Given the description of an element on the screen output the (x, y) to click on. 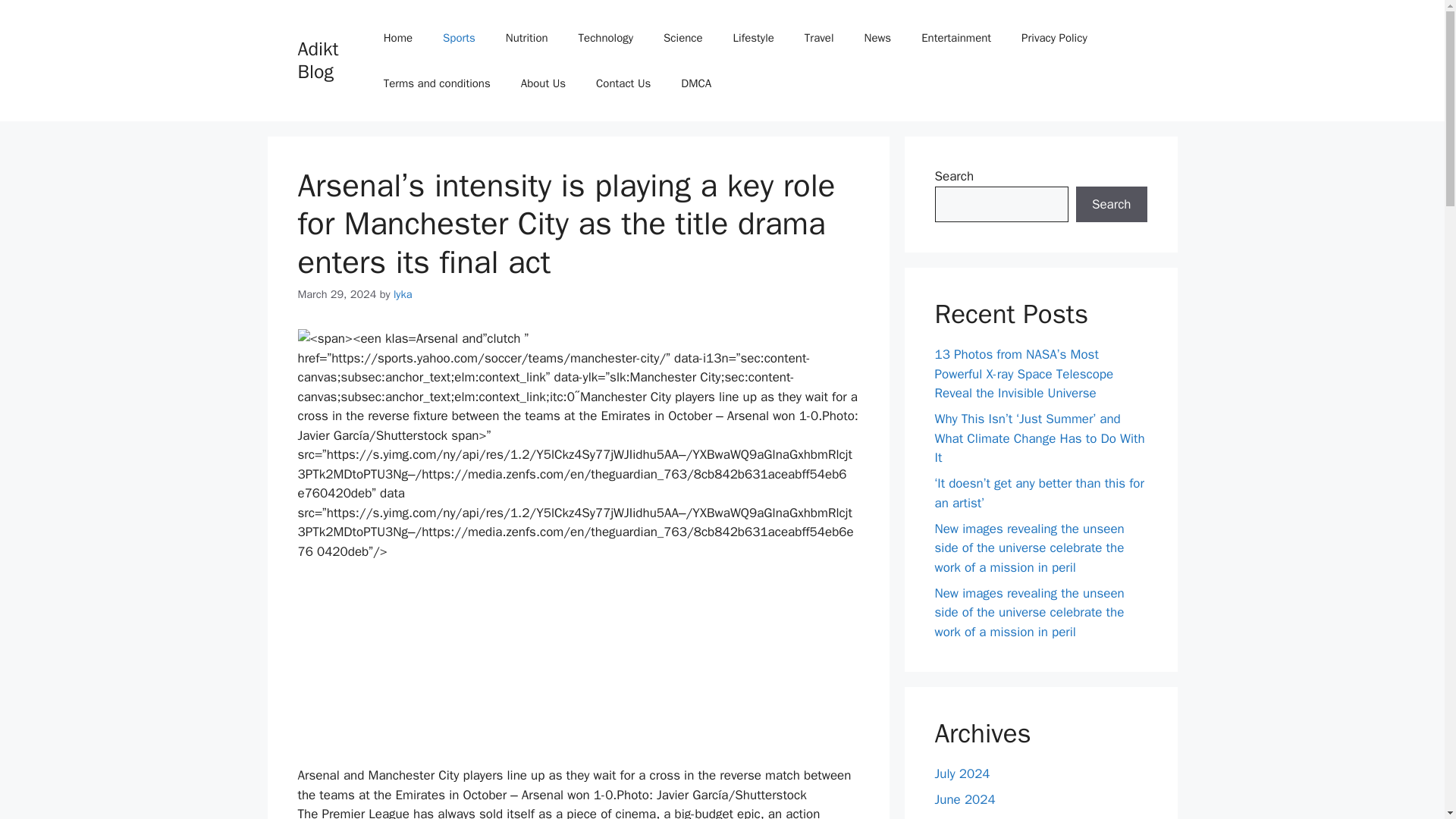
Technology (606, 37)
Science (682, 37)
Nutrition (526, 37)
Home (398, 37)
Sports (459, 37)
DMCA (695, 83)
Travel (818, 37)
View all posts by lyka (402, 294)
About Us (542, 83)
News (877, 37)
Entertainment (955, 37)
Contact Us (622, 83)
Lifestyle (753, 37)
Privacy Policy (1054, 37)
lyka (402, 294)
